Given the description of an element on the screen output the (x, y) to click on. 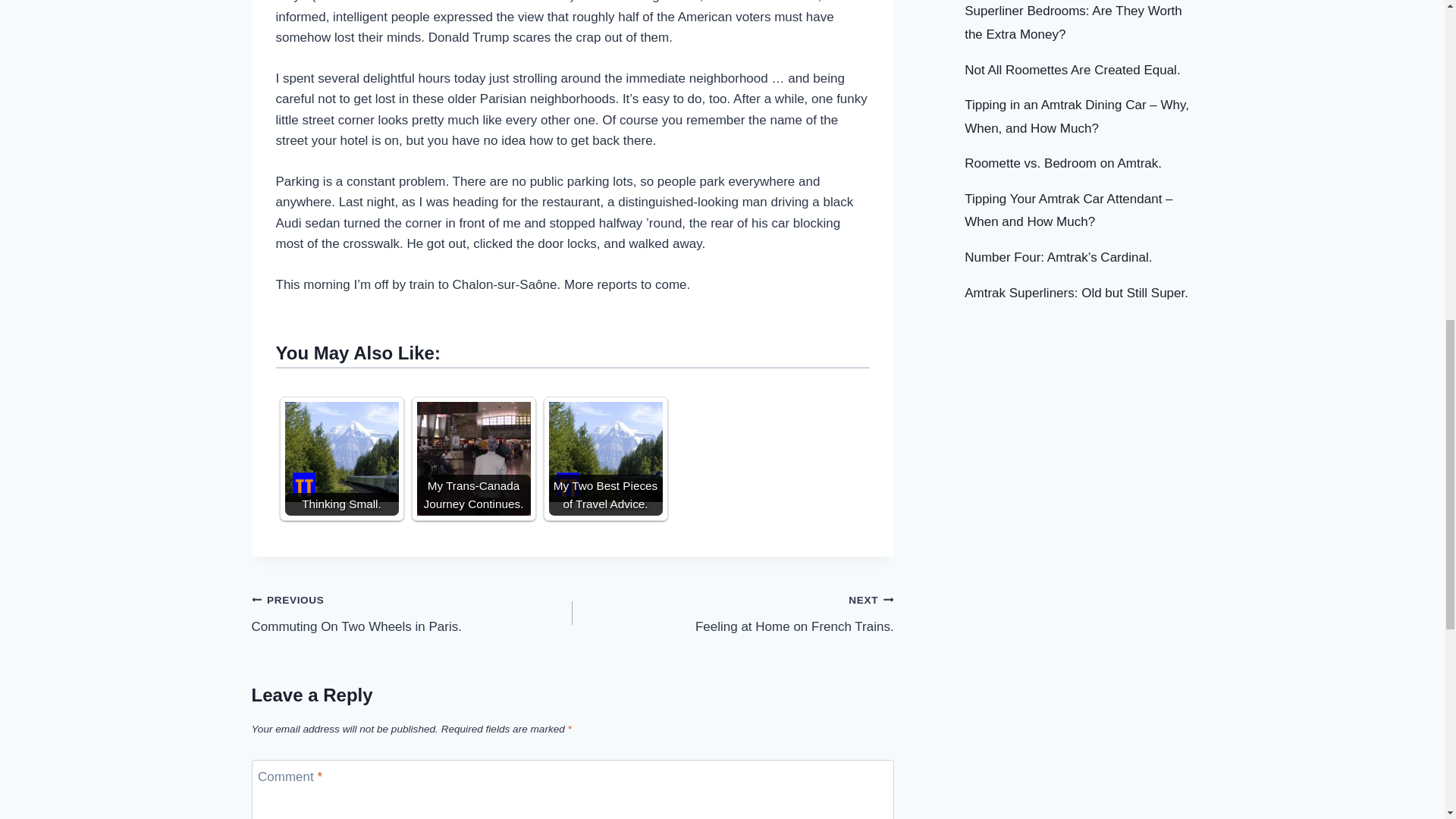
My Two Best Pieces of Travel Advice. (605, 452)
My Trans-Canada Journey Continues. (473, 458)
Thinking Small. (341, 452)
